Given the description of an element on the screen output the (x, y) to click on. 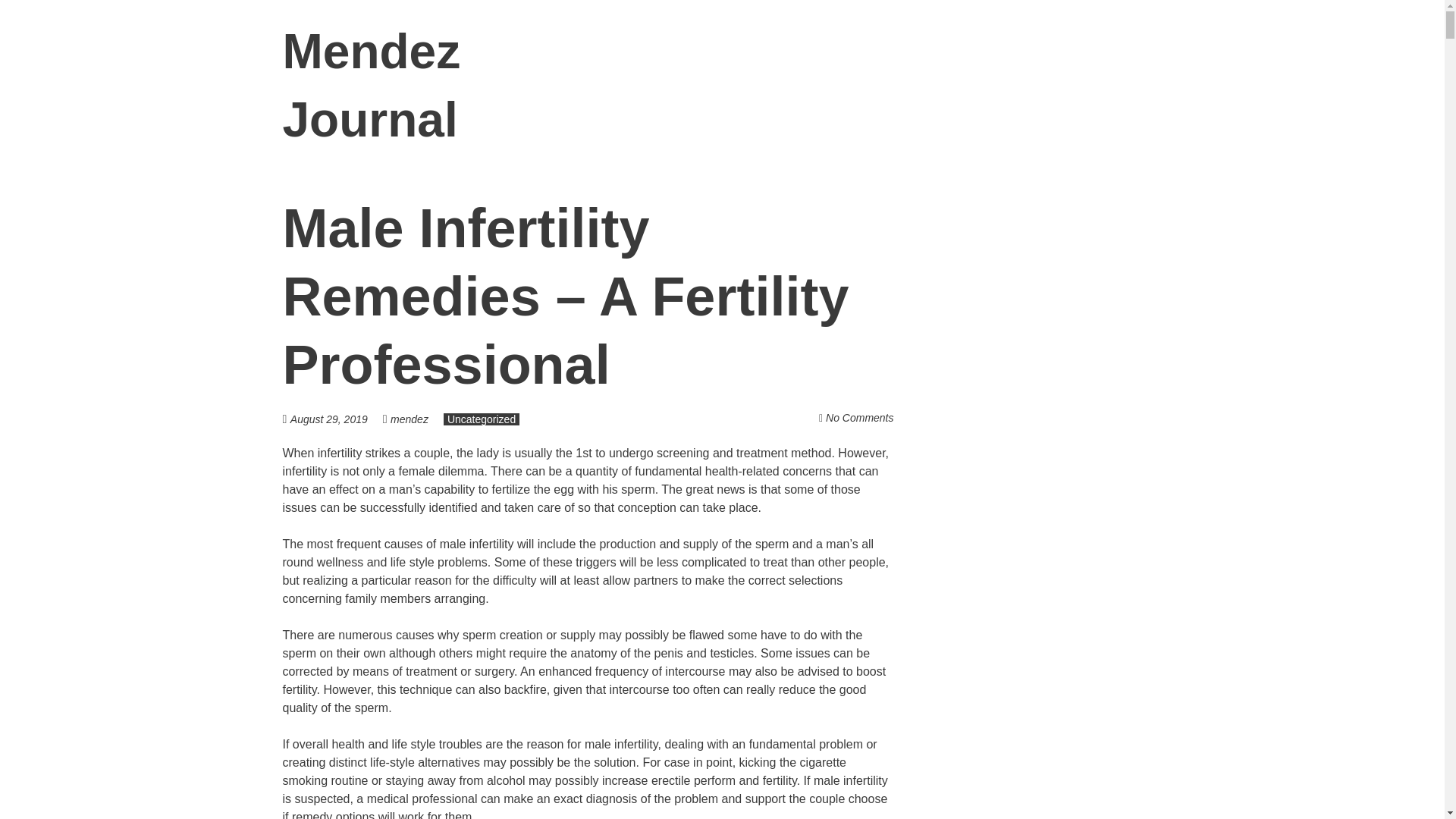
Mendez Journal (371, 85)
Skip to content (1181, 52)
mendez (409, 419)
Skip to content (1181, 52)
Uncategorized (481, 419)
No Comments (859, 417)
August 29, 2019 (335, 418)
